Given the description of an element on the screen output the (x, y) to click on. 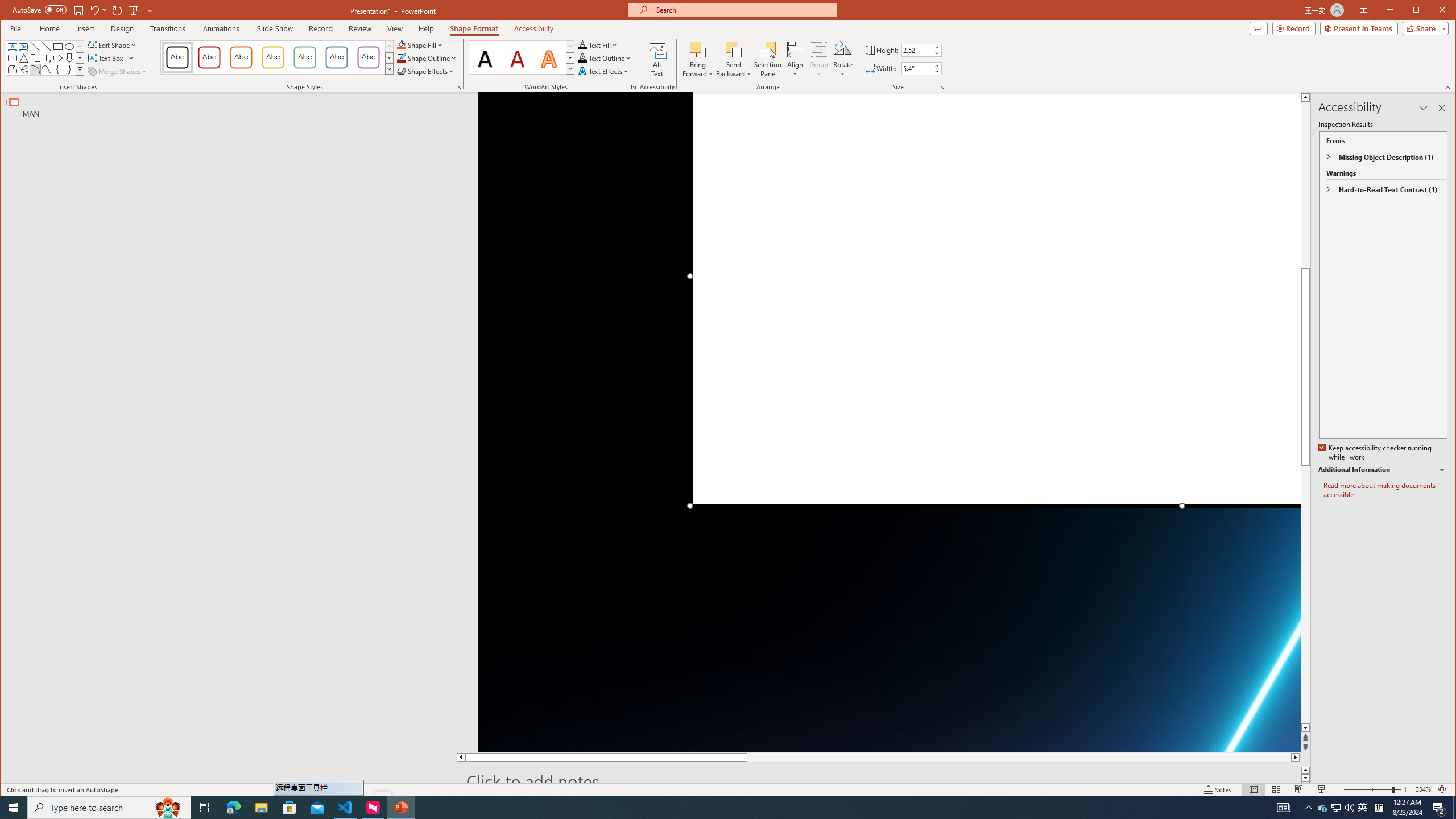
Text Outline (604, 57)
Arrow: Right (58, 57)
Slide Notes (882, 780)
Zoom Out (1367, 789)
Colored Outline - Gold, Accent 3 (272, 57)
Row Down (570, 57)
Text Fill RGB(0, 0, 0) (582, 44)
Redo (117, 9)
Rectangle (58, 46)
Page up (1305, 177)
Action Center, 2 new notifications (1439, 807)
Less (935, 70)
Line (34, 46)
Task View (204, 807)
Reading View (1298, 789)
